Given the description of an element on the screen output the (x, y) to click on. 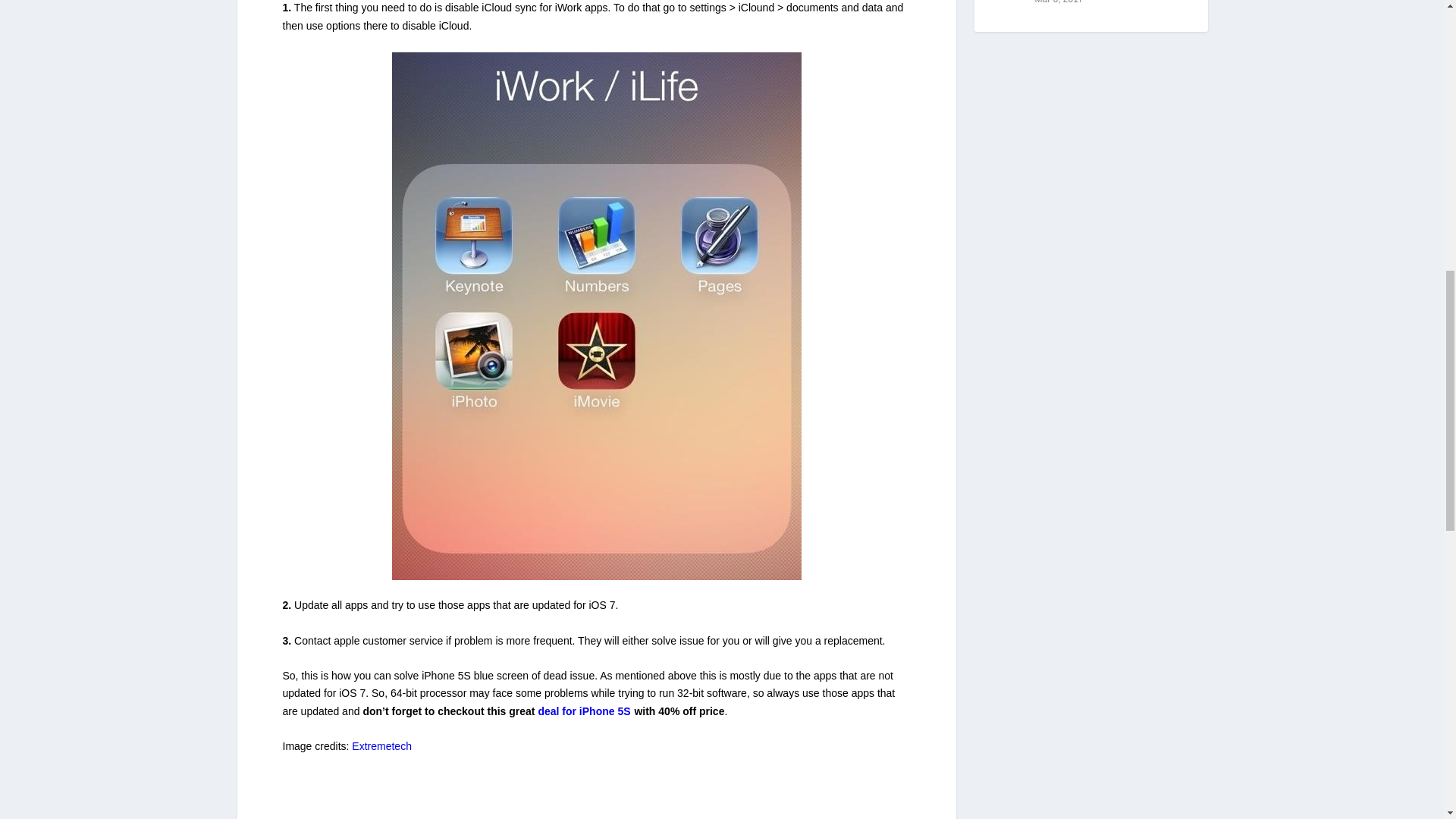
Extremetech (382, 746)
deal for iPhone 5S (583, 711)
extremetech  (382, 746)
